Given the description of an element on the screen output the (x, y) to click on. 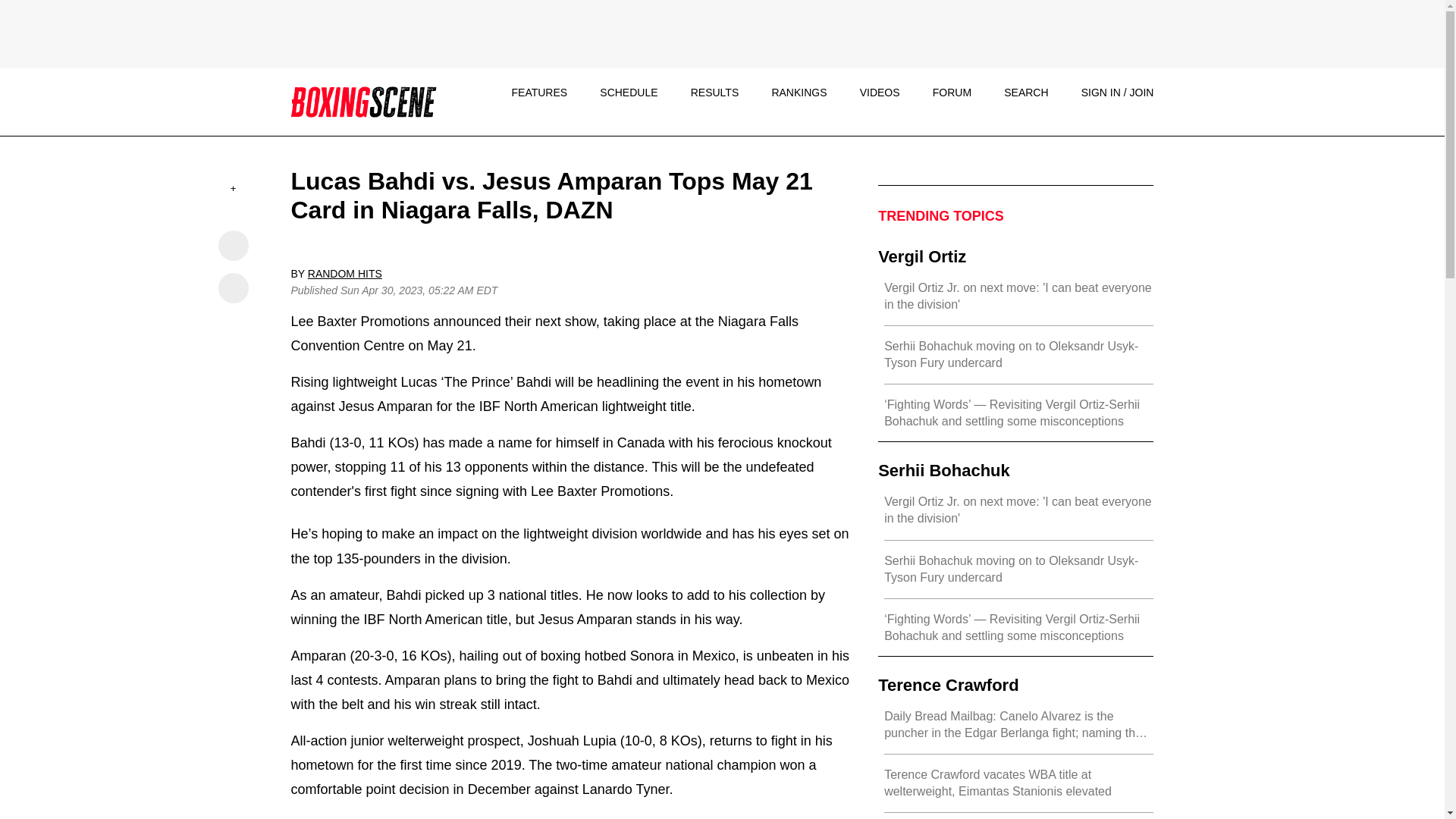
FEATURES (539, 92)
SCHEDULE (628, 92)
VIDEOS (879, 92)
RANKINGS (799, 92)
RANDOM HITS (344, 273)
RESULTS (714, 92)
SEARCH (1026, 92)
FORUM (952, 92)
